Given the description of an element on the screen output the (x, y) to click on. 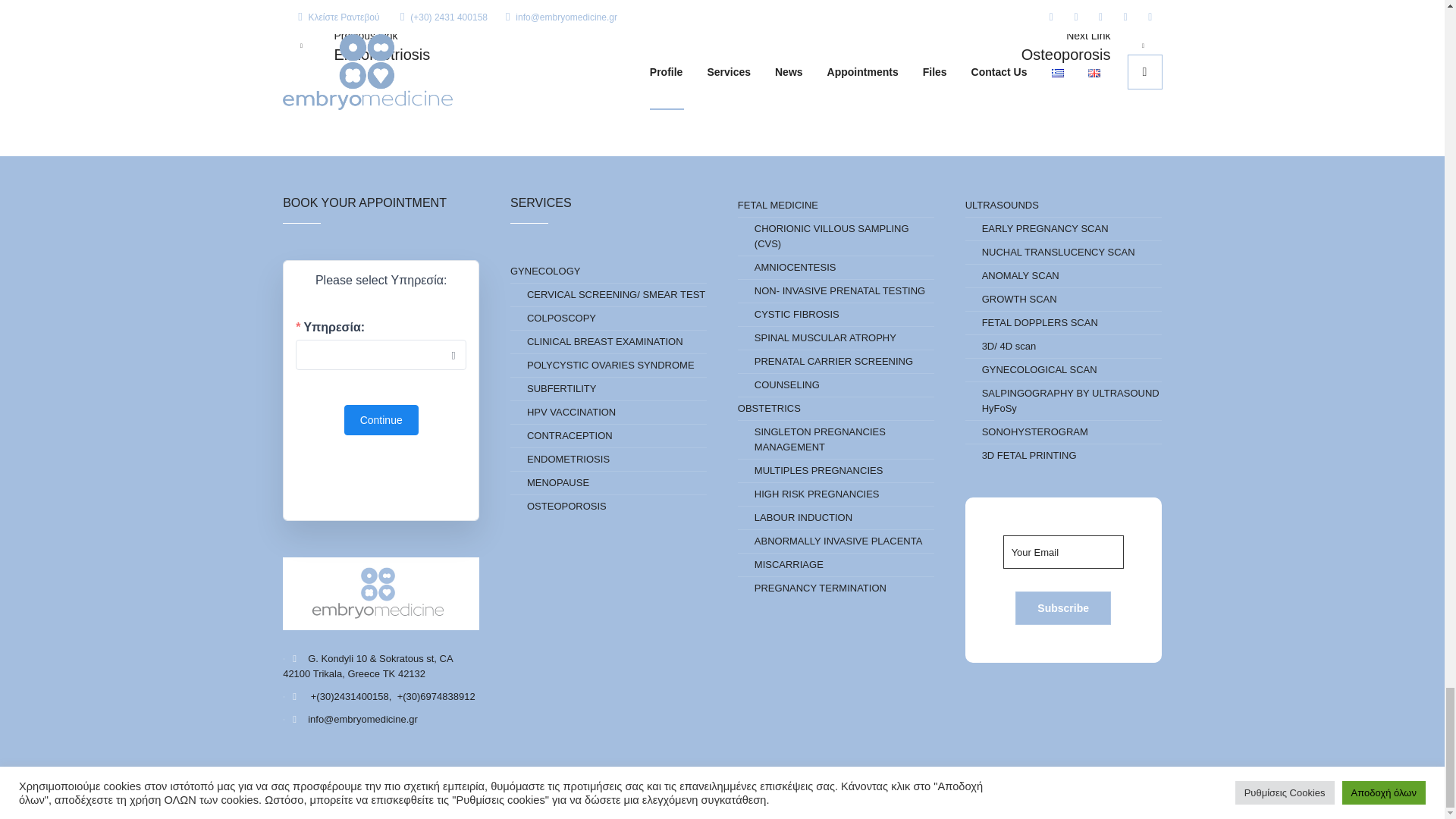
Subscribe (1062, 607)
